Given the description of an element on the screen output the (x, y) to click on. 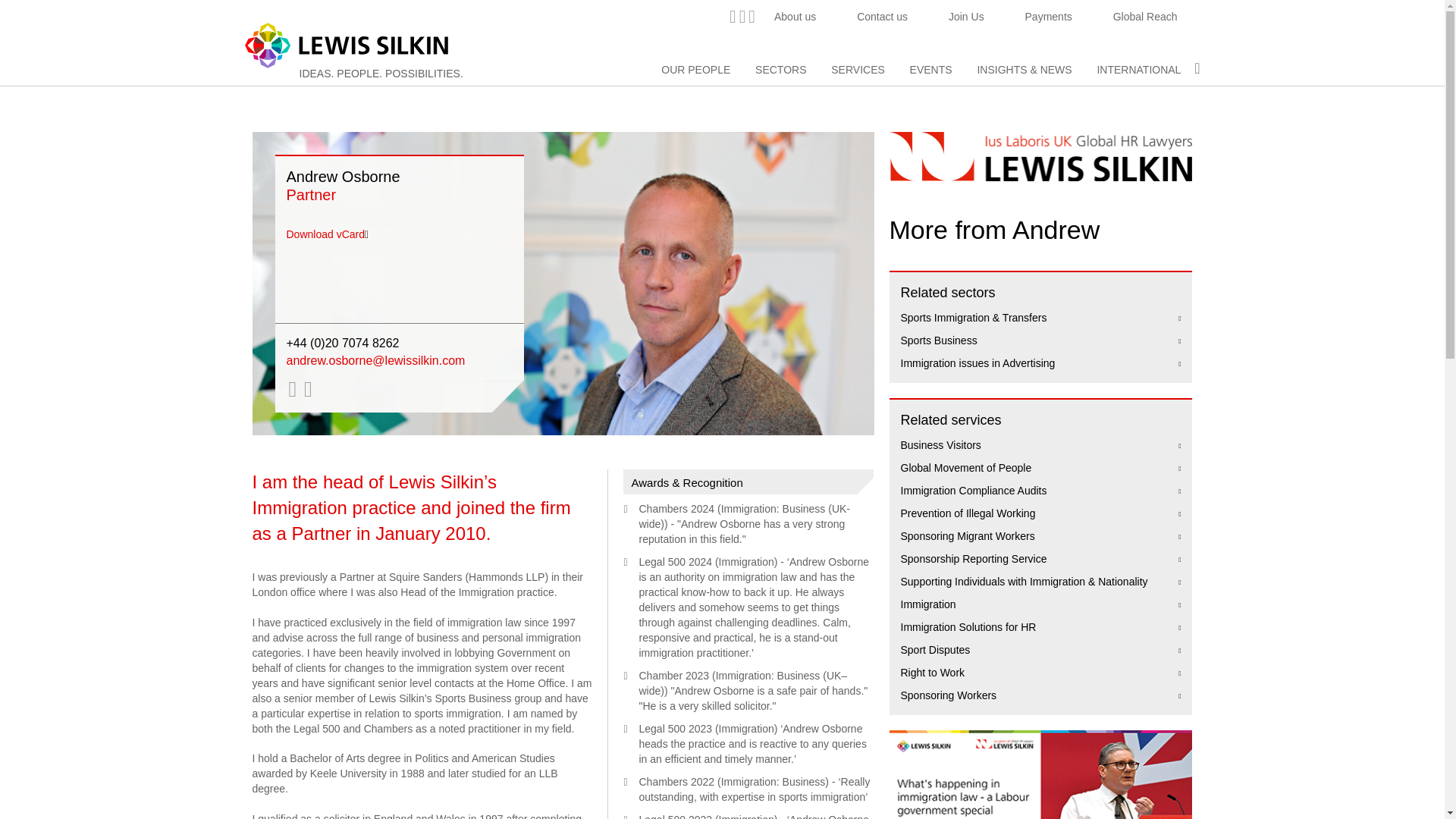
IDEAS. PEOPLE. POSSIBILITIES. (380, 73)
Contact us (881, 16)
About us (795, 16)
SECTORS (780, 69)
Global Reach (1145, 16)
Join Us (965, 16)
Payments (1048, 16)
SERVICES (858, 69)
Opens in a new tab (1145, 16)
OUR PEOPLE (695, 69)
